Given the description of an element on the screen output the (x, y) to click on. 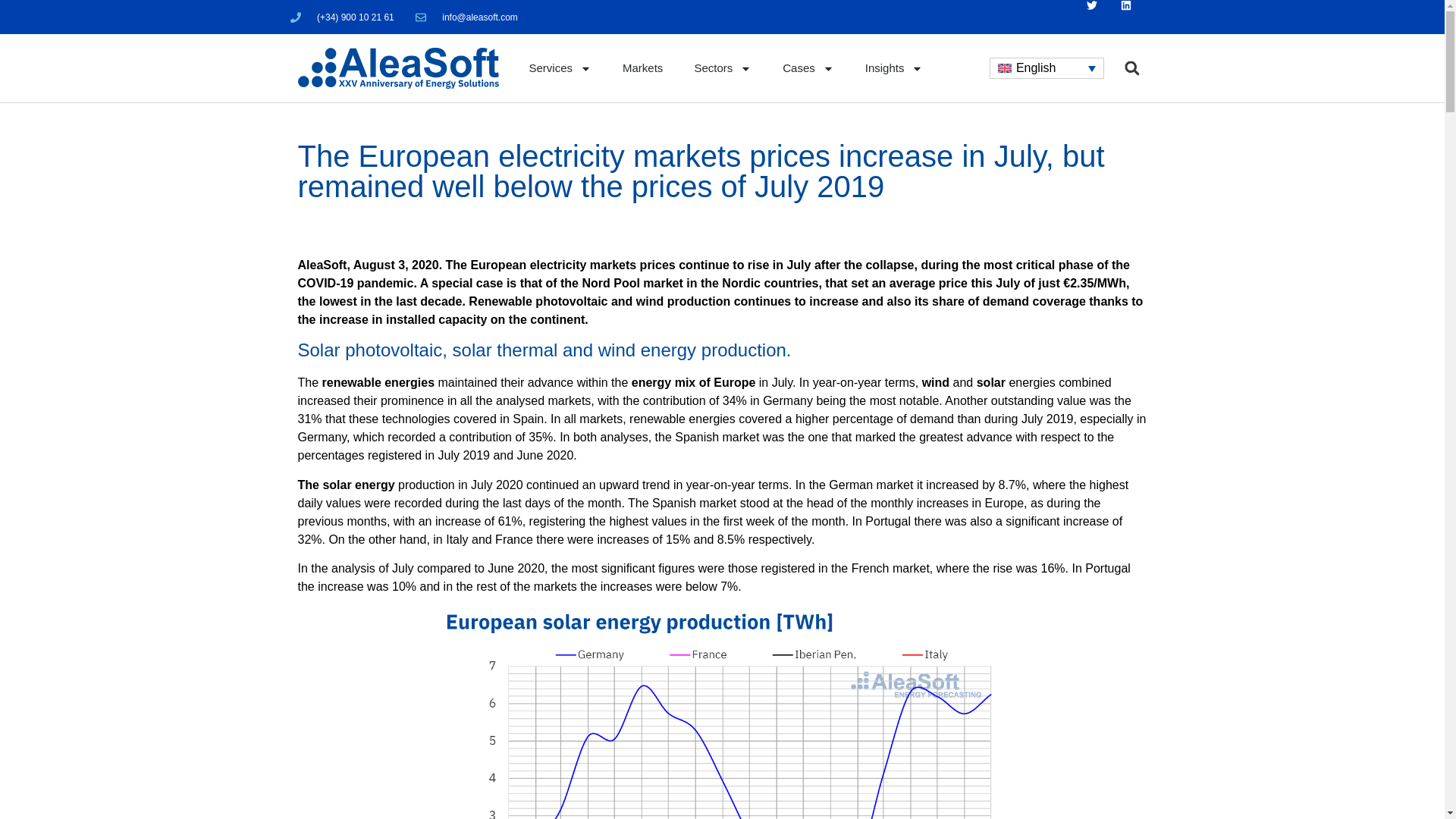
Services (560, 68)
